Given the description of an element on the screen output the (x, y) to click on. 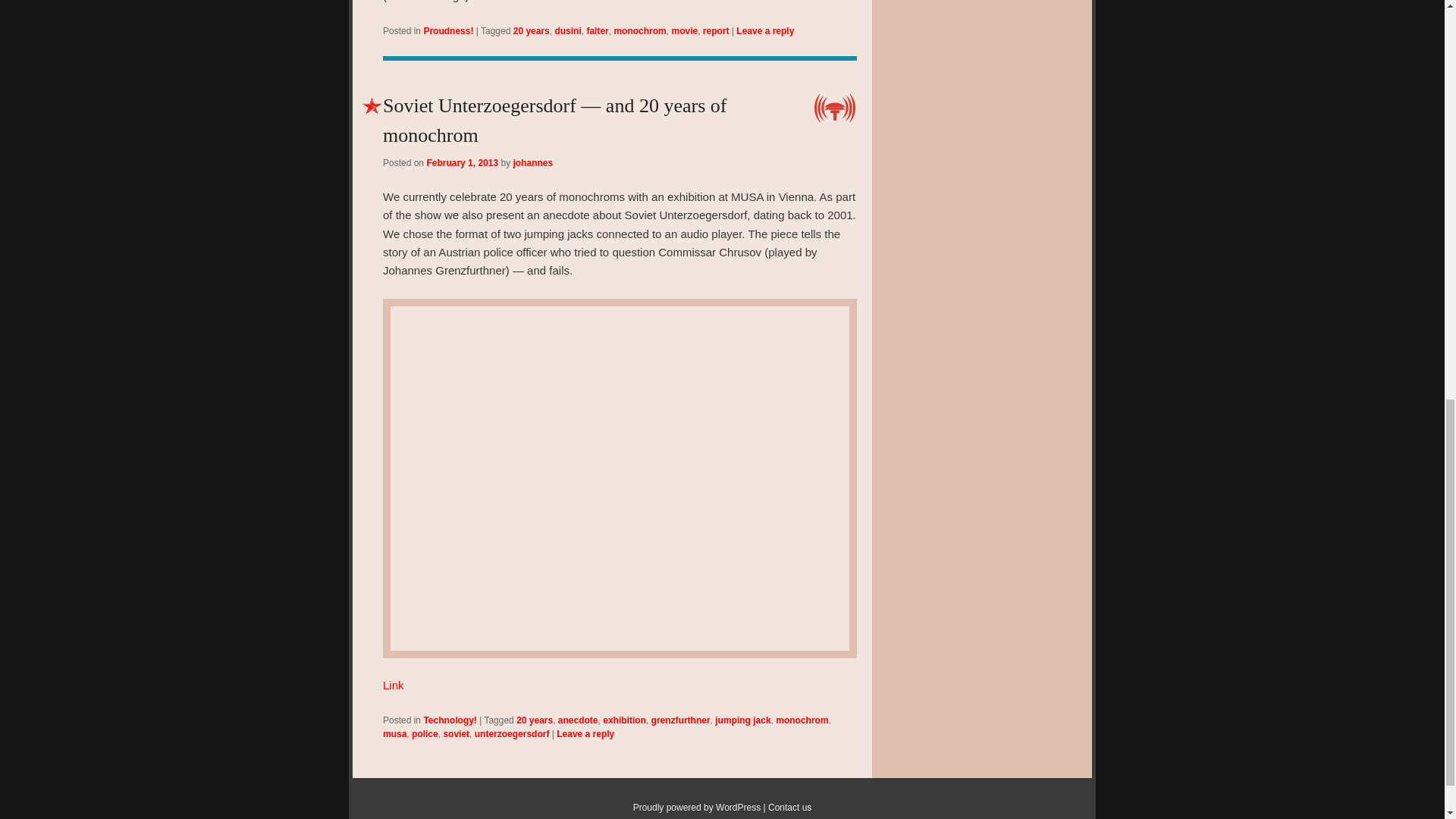
February 1, 2013 (461, 163)
20 years (531, 30)
dusini (567, 30)
Proudness! (448, 30)
falter (597, 30)
monochrom (638, 30)
report (716, 30)
Leave a reply (764, 30)
johannes (532, 163)
movie (684, 30)
